Given the description of an element on the screen output the (x, y) to click on. 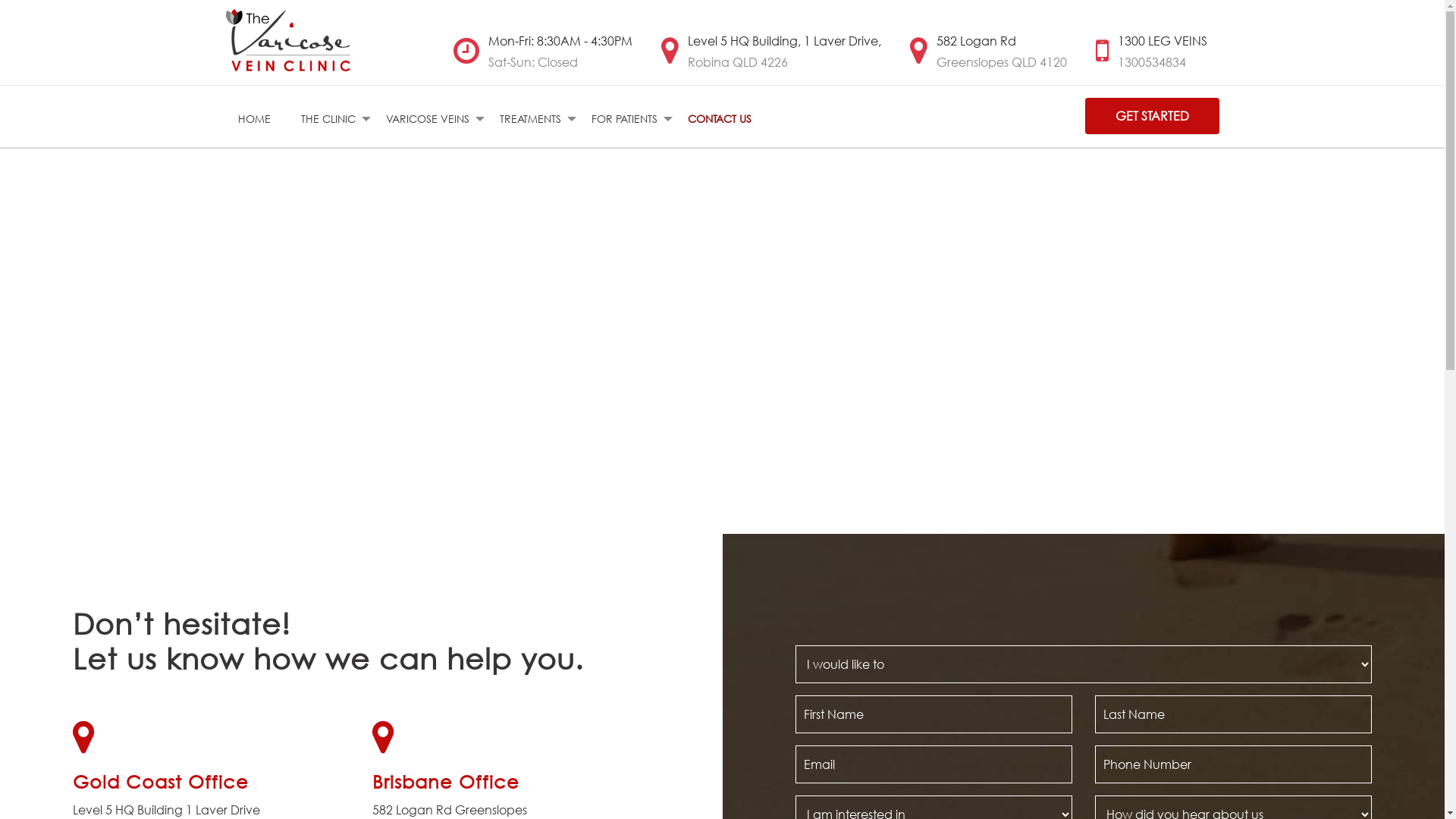
VARICOSE VEINS Element type: text (426, 118)
HOME Element type: text (254, 118)
FOR PATIENTS Element type: text (624, 118)
GET STARTED Element type: text (1151, 115)
CONTACT US Element type: text (718, 118)
THE CLINIC Element type: text (327, 118)
1300534834 Element type: text (1151, 61)
TREATMENTS Element type: text (529, 118)
